Given the description of an element on the screen output the (x, y) to click on. 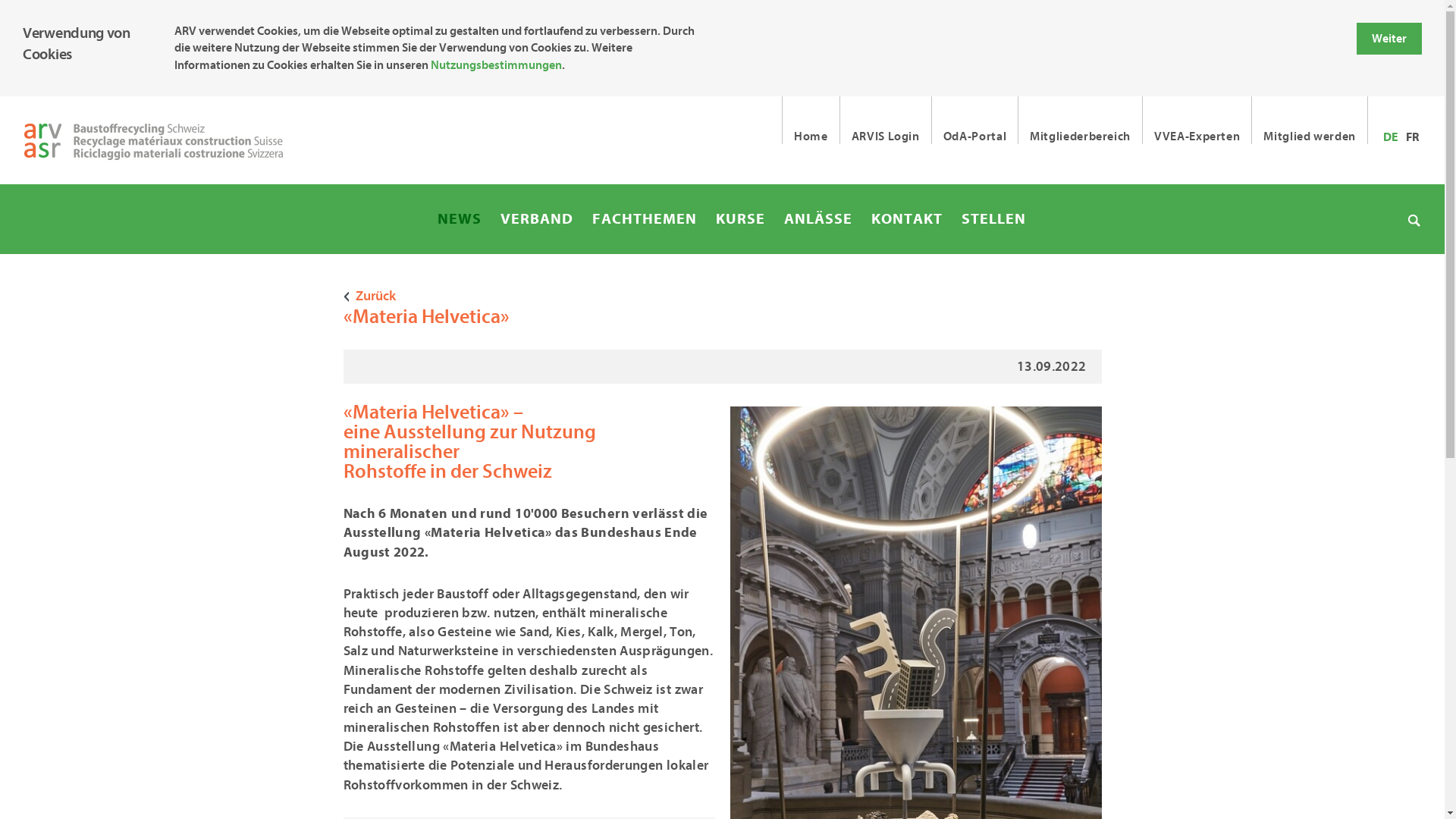
FR Element type: text (1411, 137)
Mitgliederbereich Element type: text (1079, 120)
KURSE Element type: text (740, 218)
NEWS Element type: text (459, 218)
Nutzungsbestimmungen Element type: text (495, 65)
OdA-Portal Element type: text (974, 120)
ARVIS Login Element type: text (885, 120)
Weiter Element type: text (1388, 38)
Home Element type: text (810, 120)
Mitglied werden Element type: text (1309, 120)
VVEA-Experten Element type: text (1196, 120)
STELLEN Element type: text (993, 218)
VERBAND Element type: text (536, 218)
KONTAKT Element type: text (906, 218)
DE Element type: text (1390, 137)
FACHTHEMEN Element type: text (644, 218)
